Given the description of an element on the screen output the (x, y) to click on. 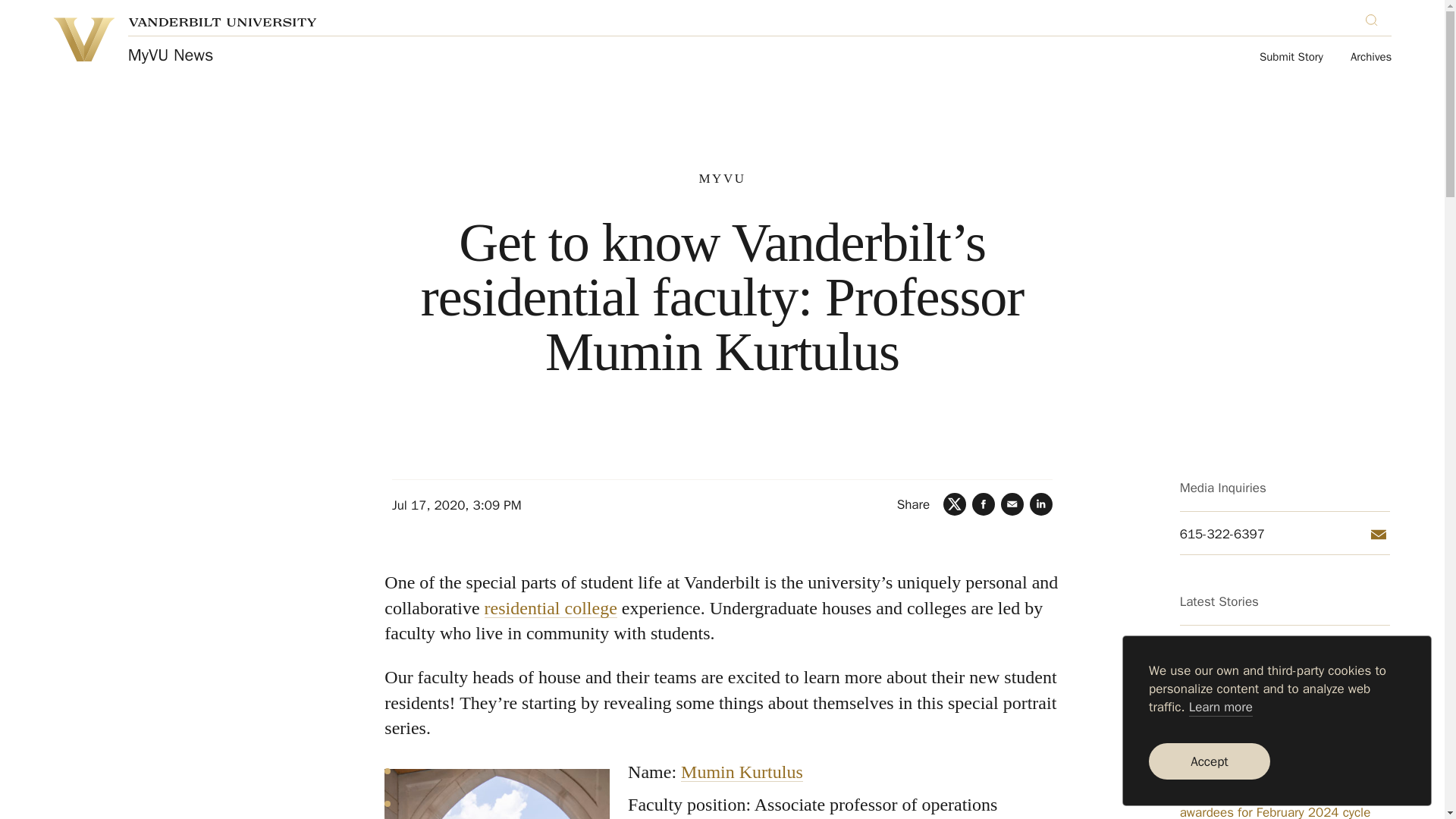
Vanderbilt University (222, 21)
Accept (1208, 760)
Facebook (983, 504)
Twitter (954, 504)
Vanderbilt University (83, 39)
Archives (1371, 57)
residential college (550, 608)
Learn more (1220, 707)
MyVU News (171, 55)
Mumin Kurtulus (742, 772)
Submit Story (1291, 57)
Email (1378, 534)
LinkedIn (1040, 504)
